Given the description of an element on the screen output the (x, y) to click on. 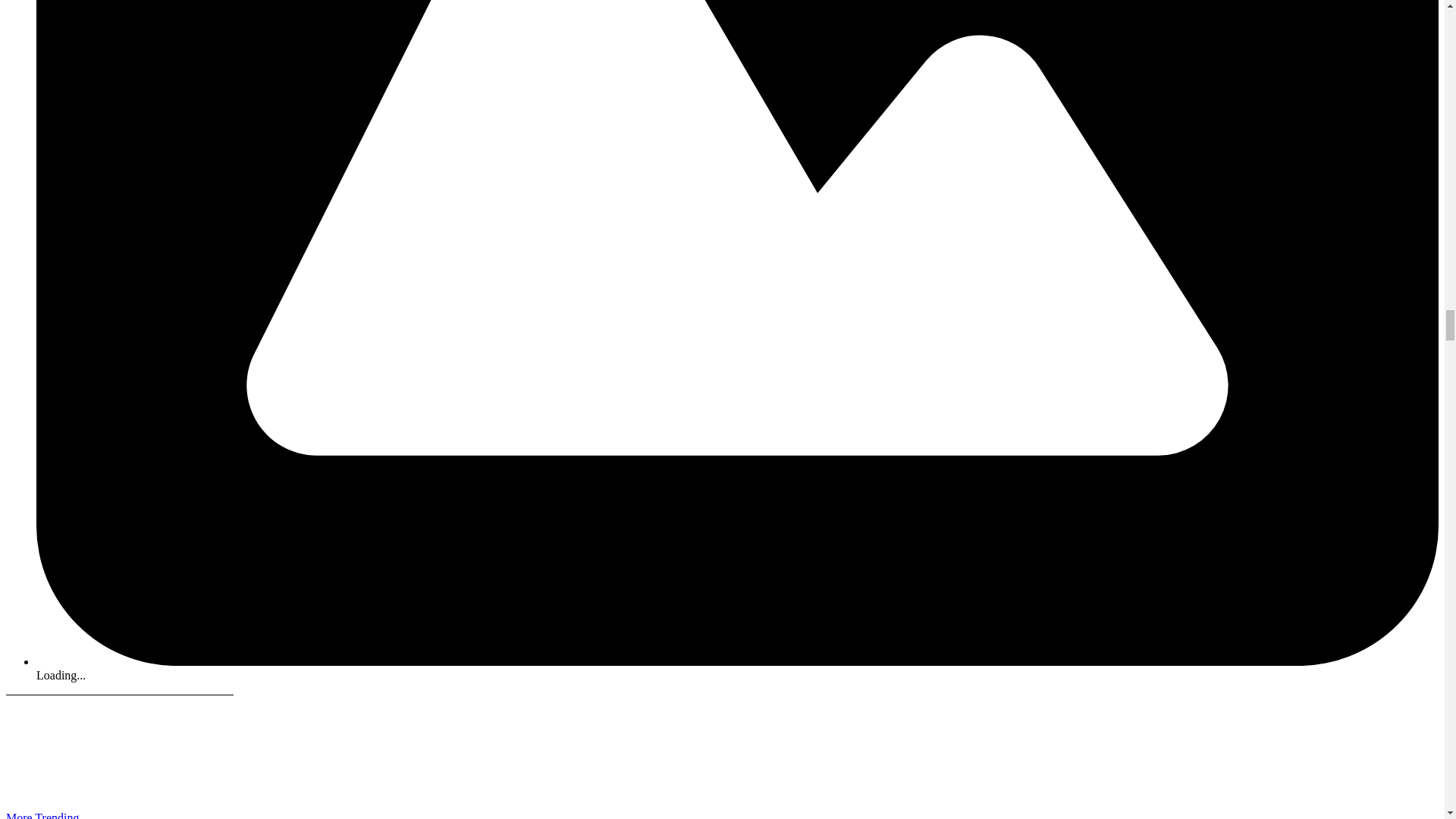
More Trending (41, 815)
